Given the description of an element on the screen output the (x, y) to click on. 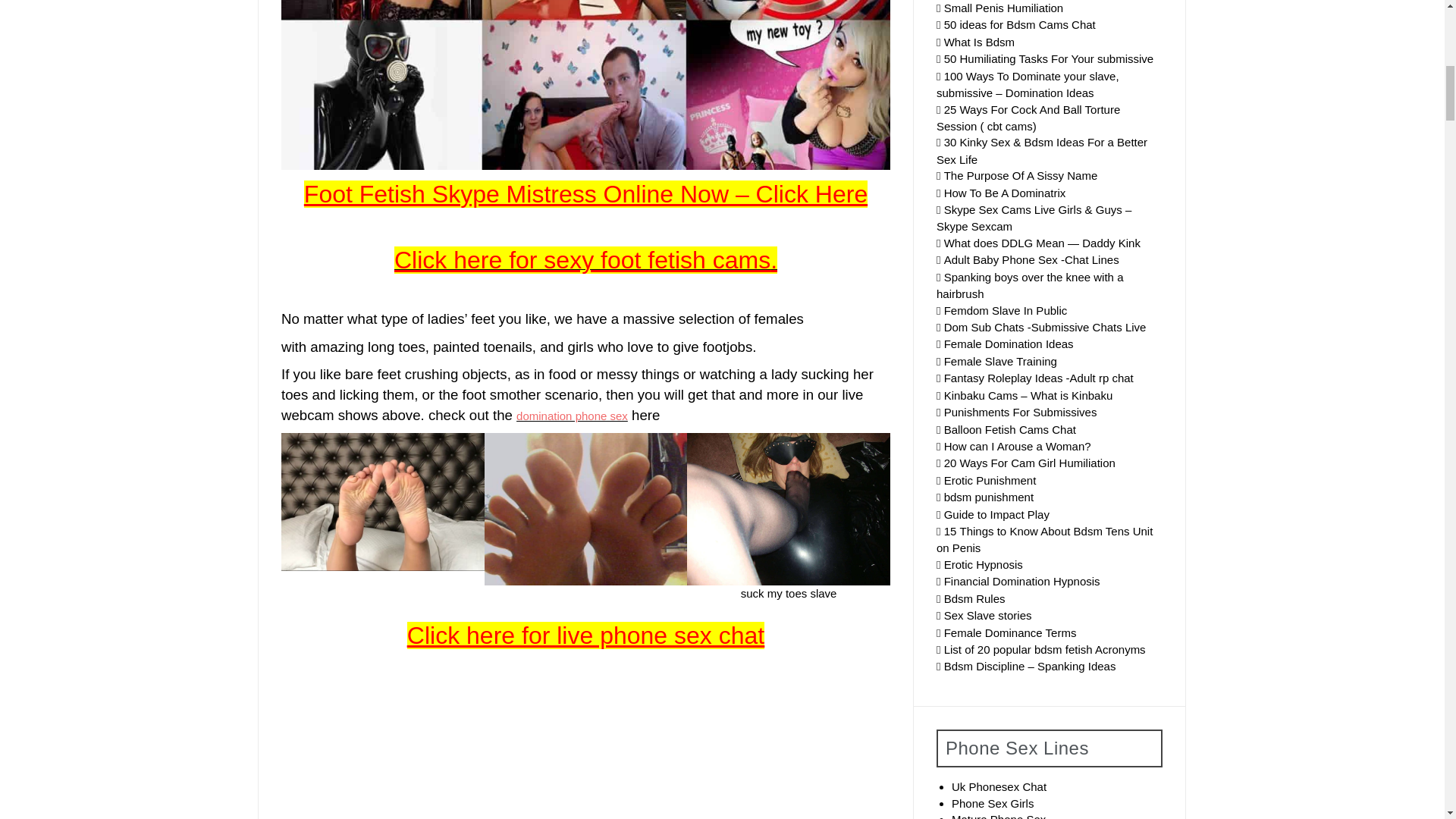
domination phone sex (571, 415)
Click here for live phone sex chat (585, 635)
goddess foot fetish (554, 764)
Click here for sexy foot fetish cams (582, 259)
tattooed feet (993, 764)
